Given the description of an element on the screen output the (x, y) to click on. 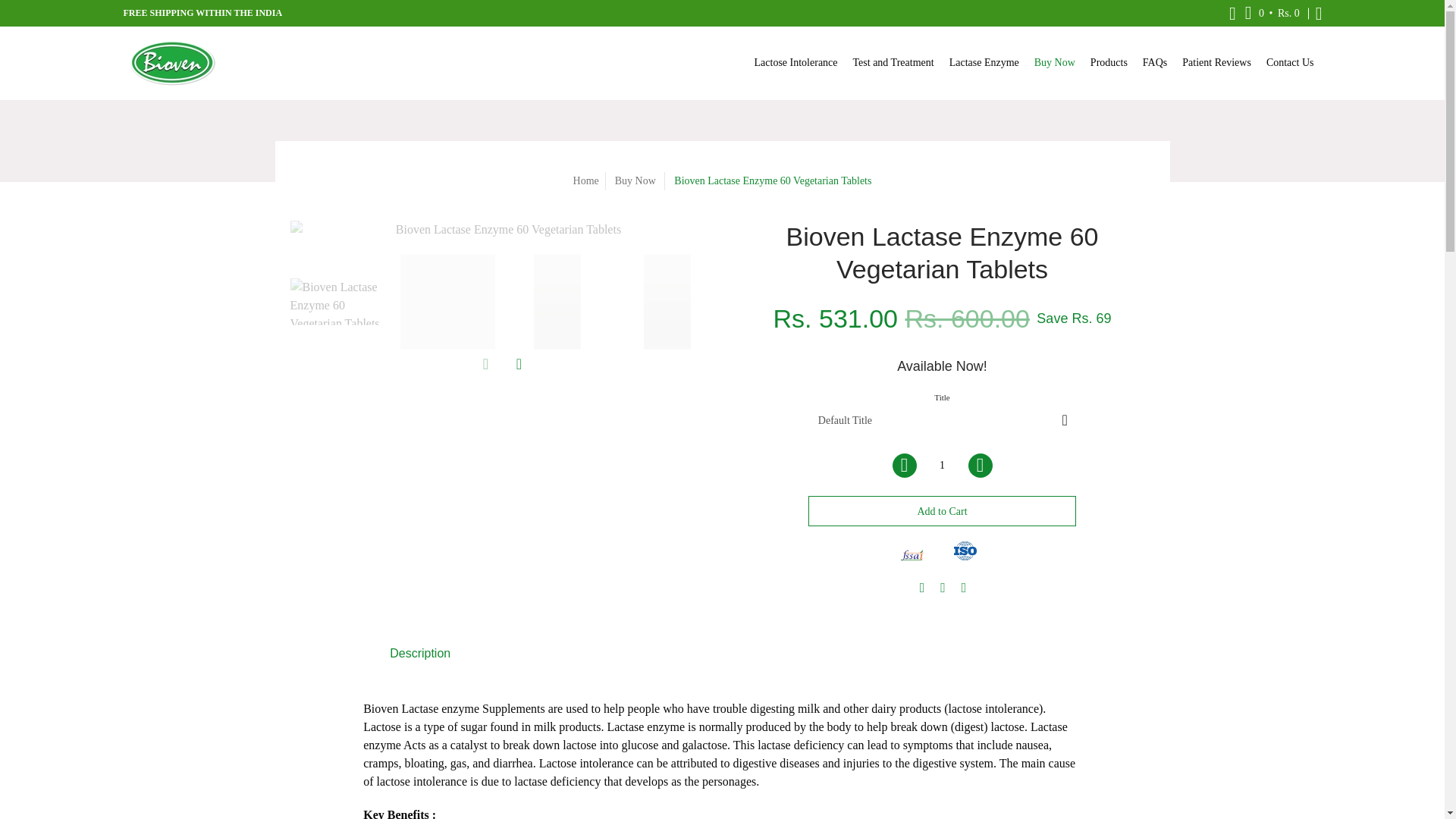
1 (941, 465)
Lactase Enzyme (984, 62)
Home (585, 180)
Biovenlactase.com (171, 62)
Lactose Intolerance (795, 62)
Test and Treatment (893, 62)
Add to Cart (941, 511)
Test and Treatment (893, 62)
Lactose Intolerance (795, 62)
Patient Reviews (1216, 62)
